Given the description of an element on the screen output the (x, y) to click on. 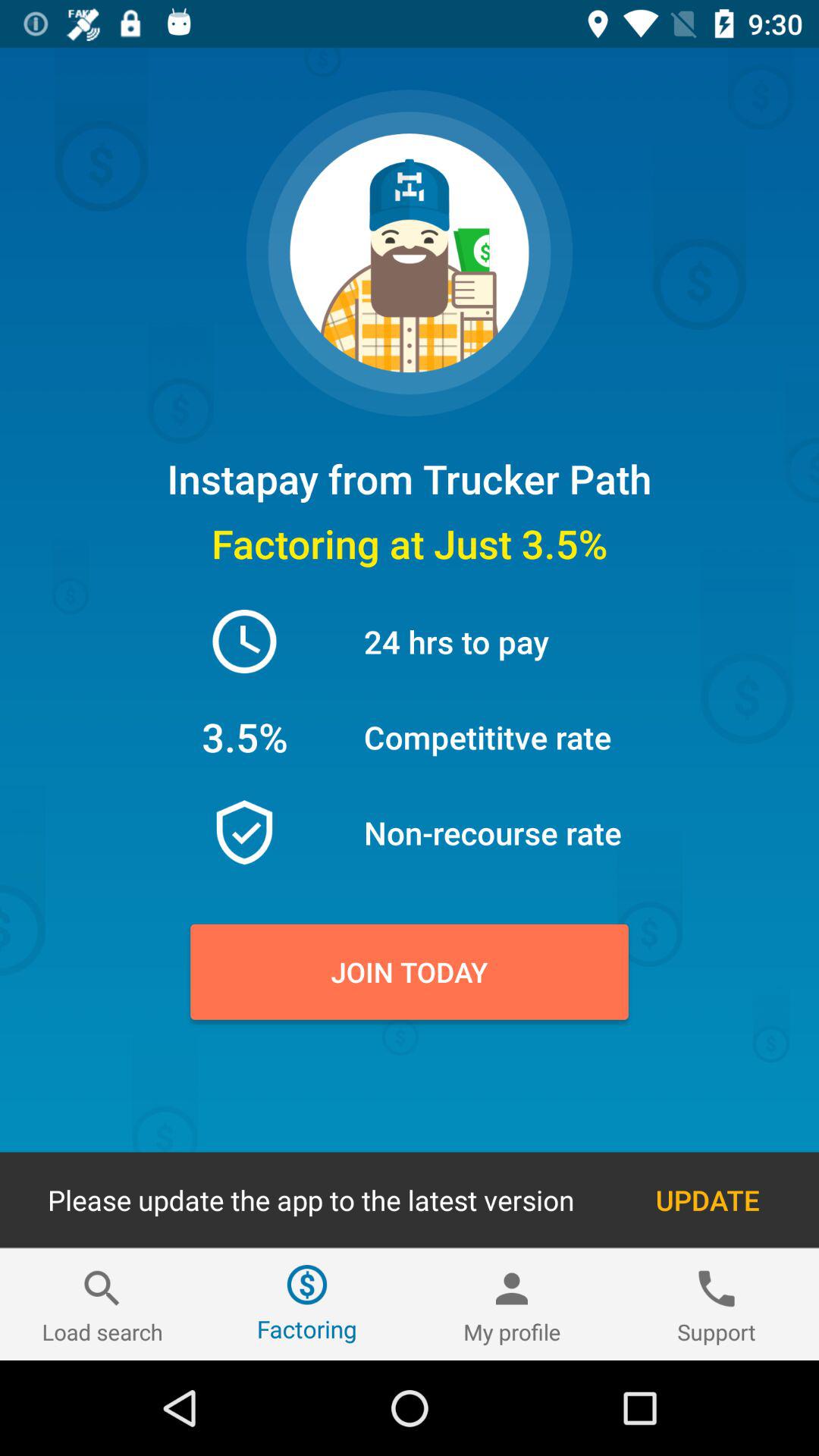
launch item next to support (511, 1304)
